Given the description of an element on the screen output the (x, y) to click on. 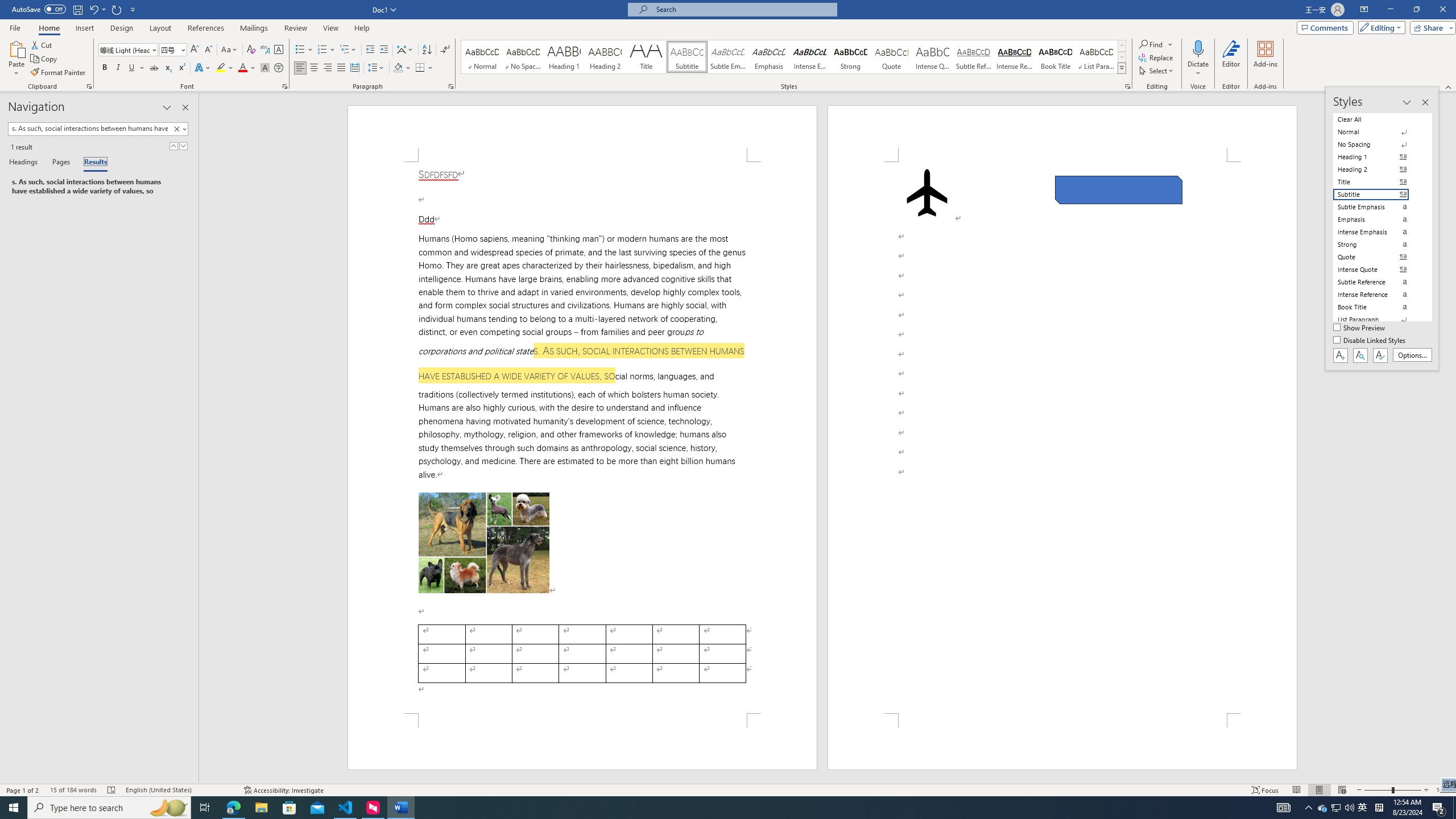
Intense Emphasis (809, 56)
Page 2 content (1062, 437)
Undo Style (92, 9)
Font Color RGB(255, 0, 0) (241, 67)
